Given the description of an element on the screen output the (x, y) to click on. 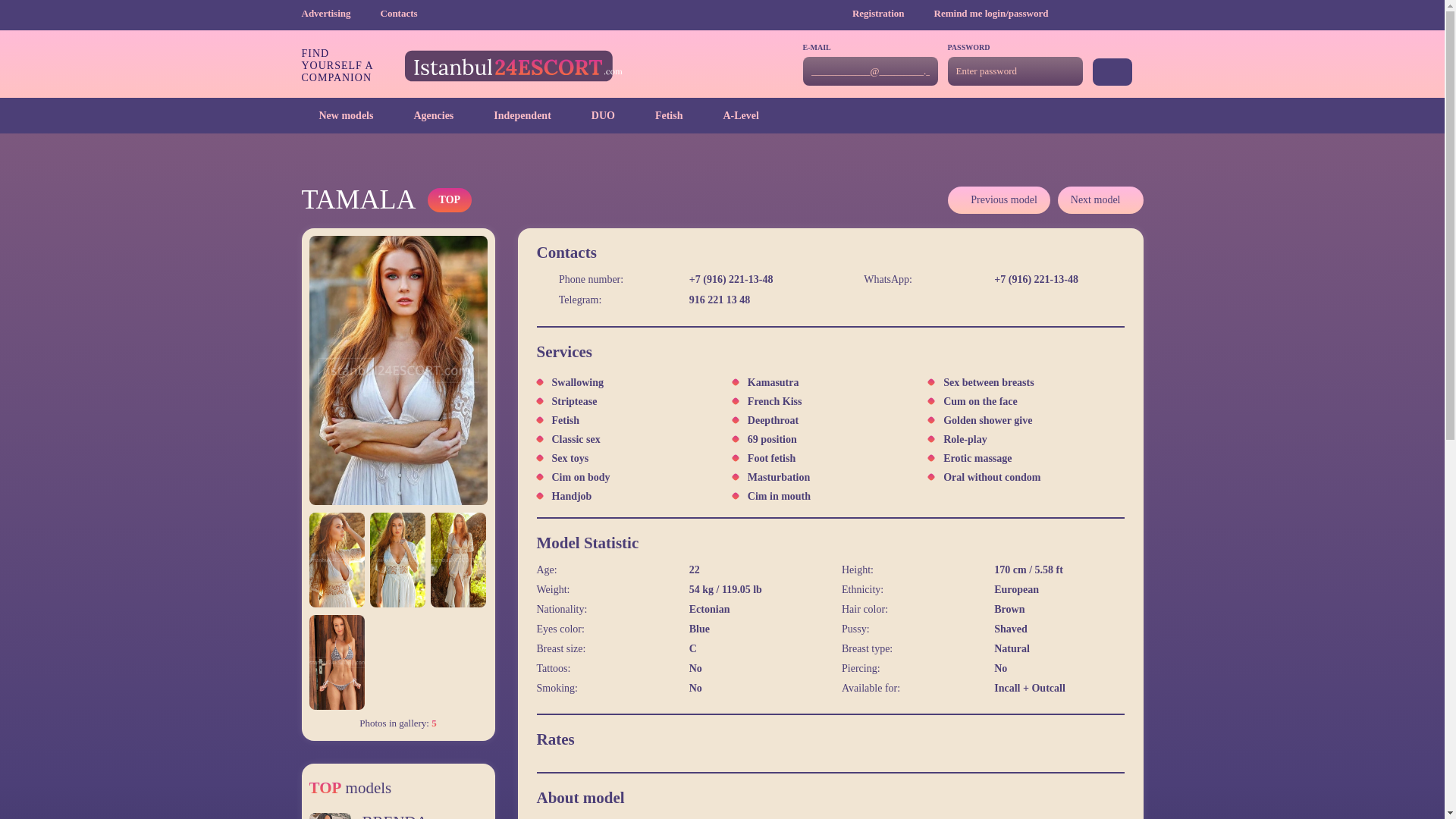
Previous model (998, 199)
Contacts (398, 12)
A-Level (731, 115)
DUO (593, 115)
FIND YOURSELF A COMPANION (462, 65)
Next model (1100, 199)
New models (337, 115)
Registration (891, 12)
Agencies (424, 115)
Fetish (659, 115)
Independent (513, 115)
Advertising (339, 12)
